Given the description of an element on the screen output the (x, y) to click on. 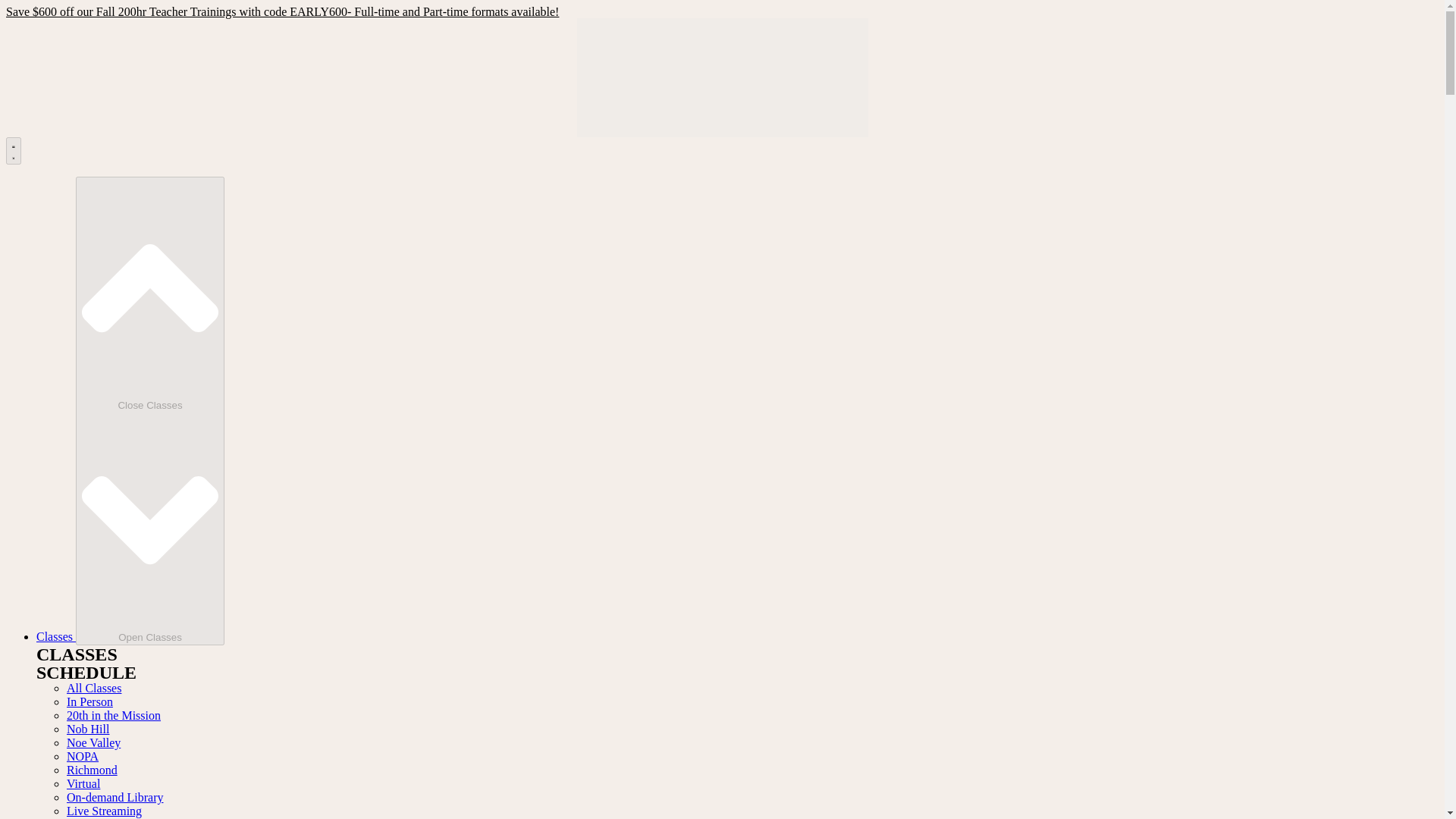
All Classes (93, 687)
Classes (55, 635)
Noe Valley (93, 742)
NOPA (82, 756)
Nob Hill (87, 728)
Richmond (91, 769)
20th in the Mission (113, 715)
Live Streaming (103, 810)
Virtual (83, 783)
In Person (89, 701)
